Given the description of an element on the screen output the (x, y) to click on. 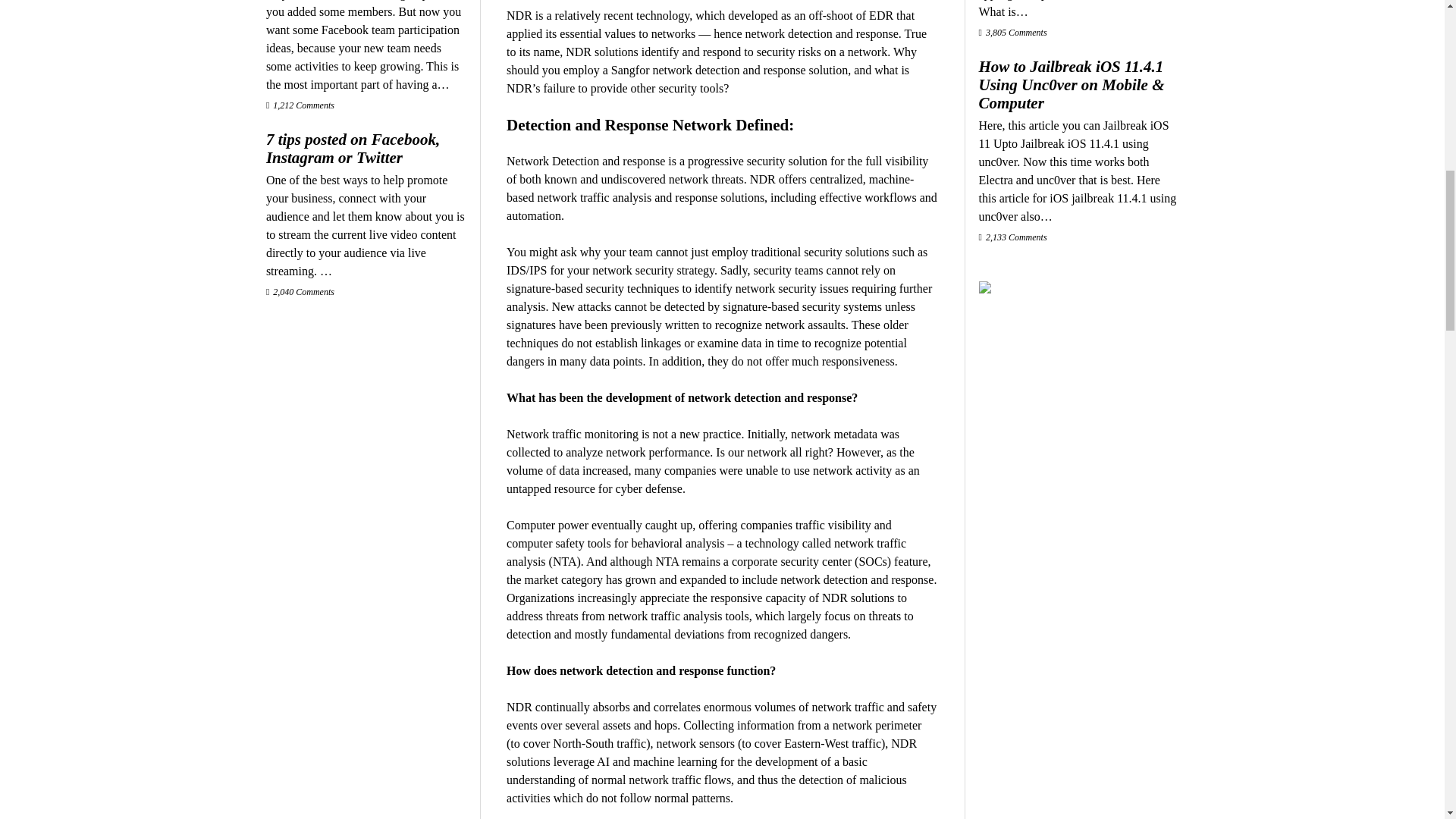
1,212 Comments (300, 104)
2,040 Comments (300, 291)
7 tips posted on Facebook, Instagram or Twitter (365, 148)
